Given the description of an element on the screen output the (x, y) to click on. 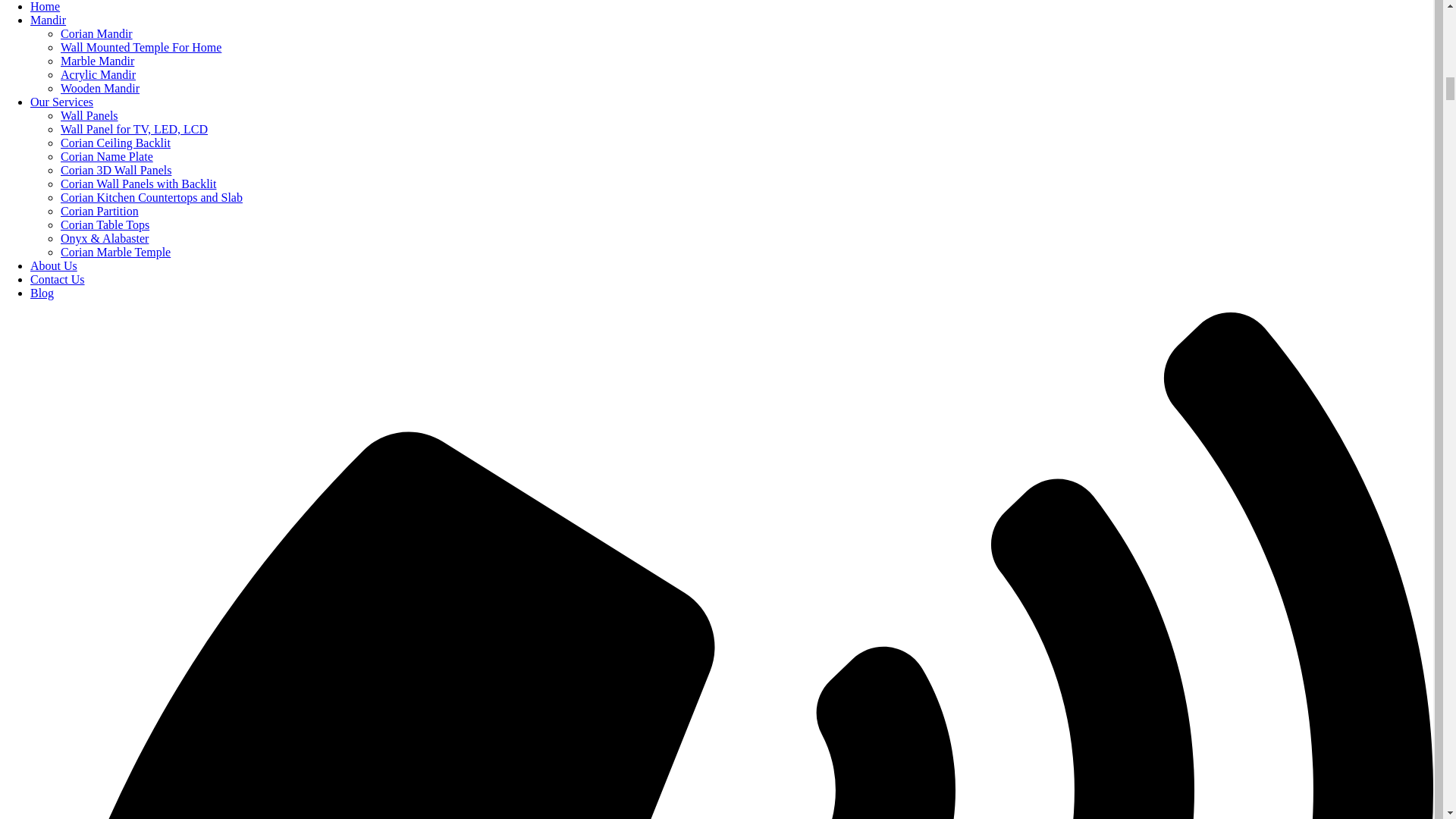
Corian Ceiling Backlit (115, 142)
Corian Table Tops (105, 224)
Corian Name Plate (106, 155)
Corian 3D Wall Panels (116, 169)
Corian Kitchen Countertops and Slab (152, 196)
Wooden Mandir (100, 88)
Corian Mandir (96, 33)
Corian Wall Panels with Backlit (138, 183)
Wall Panels (89, 115)
Our Services (61, 101)
